Given the description of an element on the screen output the (x, y) to click on. 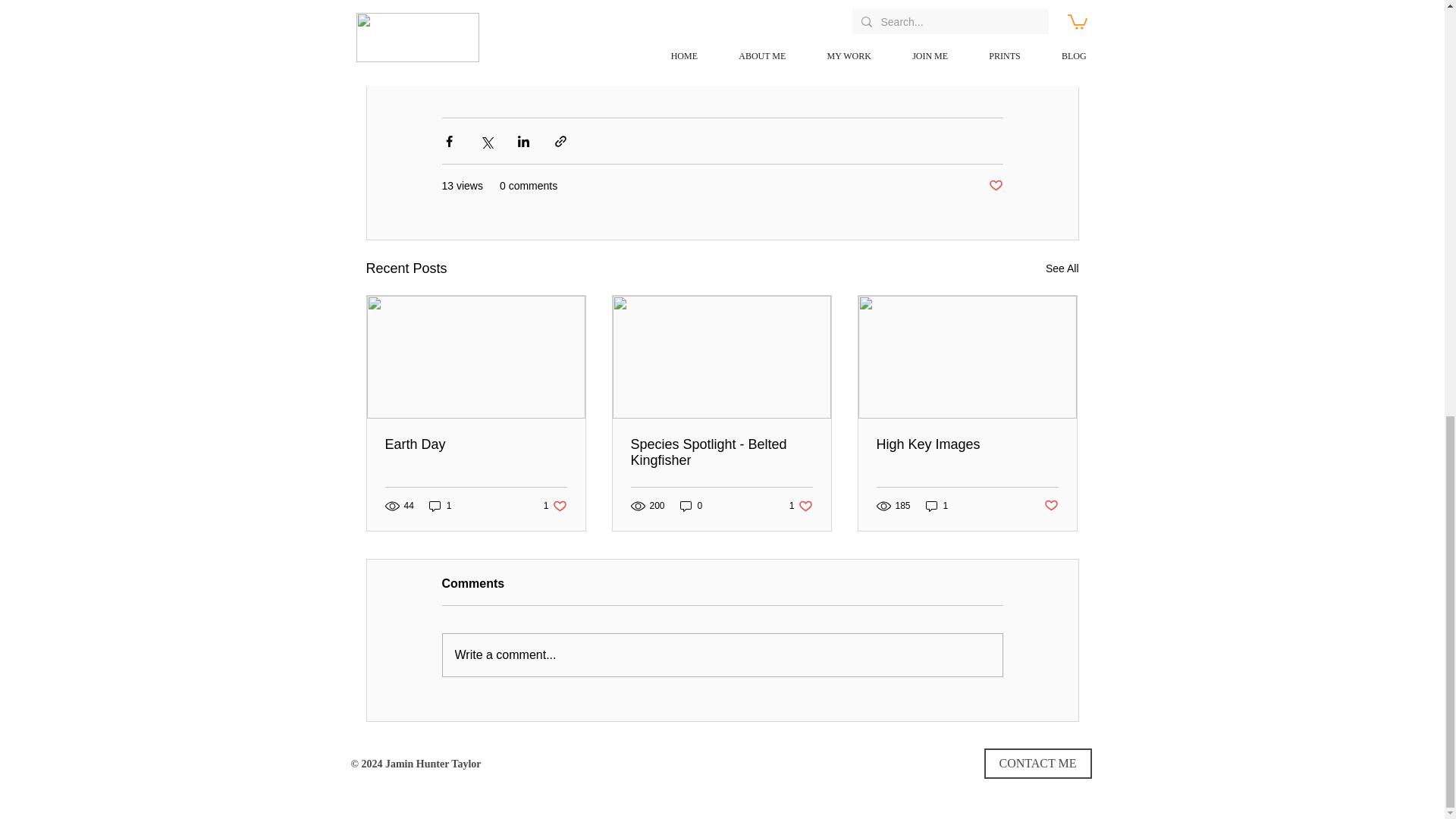
Species Spotlight - Belted Kingfisher (555, 504)
Earth Day (721, 452)
0 (476, 444)
Post not marked as liked (691, 504)
Write a comment... (1050, 505)
1 (722, 654)
See All (440, 504)
High Key Images (800, 504)
1 (1061, 268)
Post not marked as liked (967, 444)
